Given the description of an element on the screen output the (x, y) to click on. 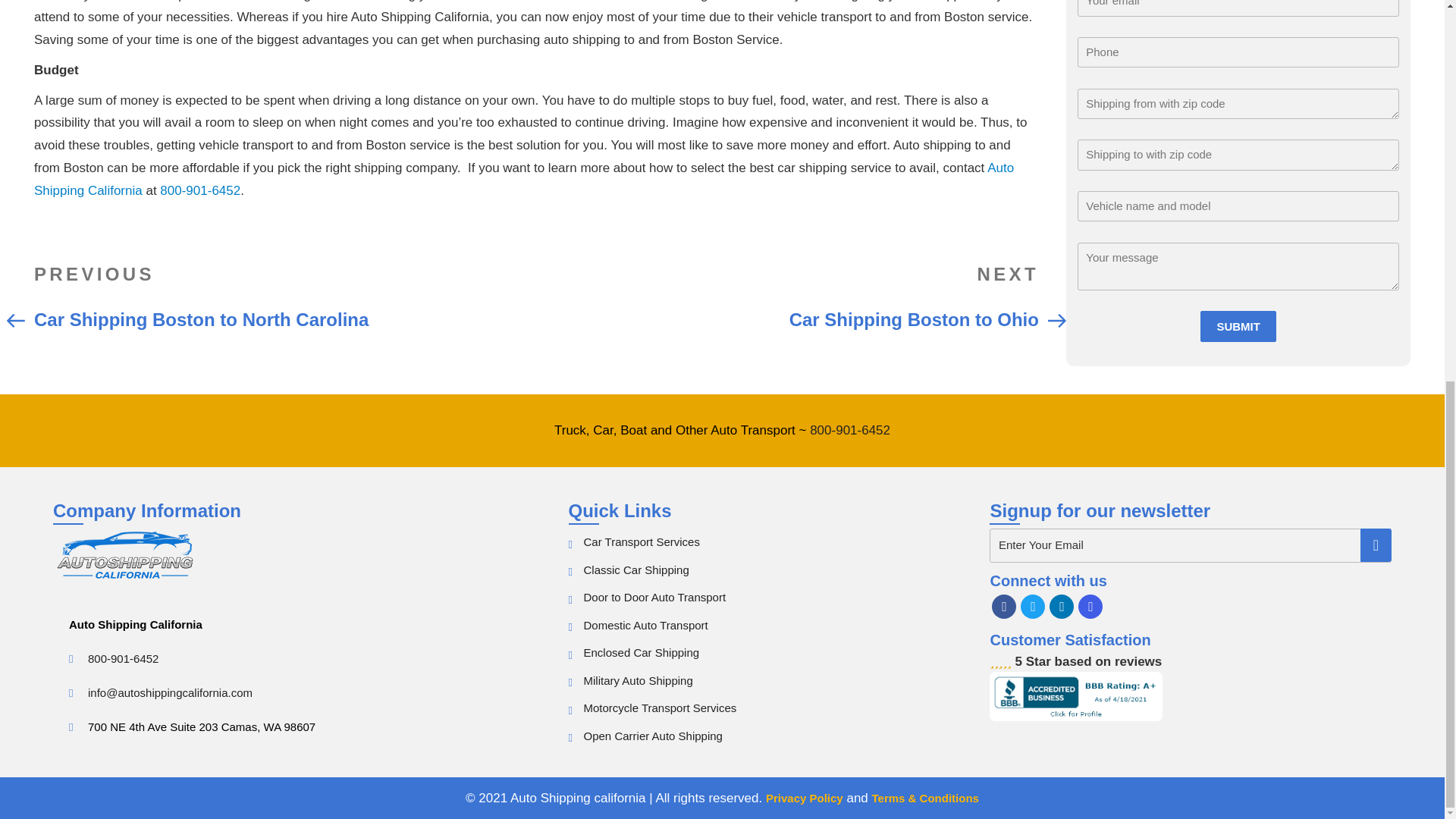
Twitter (284, 295)
Car Transport Services (1032, 606)
Submit (641, 541)
Instagram (1237, 218)
Submit (1090, 606)
Auto Shipping California BBB Rating and Reviews (1237, 218)
800-901-6452 (1075, 696)
Facebook (849, 430)
Classic Car Shipping (1003, 606)
800-901-6452 (635, 569)
Call Us (122, 658)
Door to Door Auto Transport (849, 430)
Auto Shipping California (786, 295)
